Given the description of an element on the screen output the (x, y) to click on. 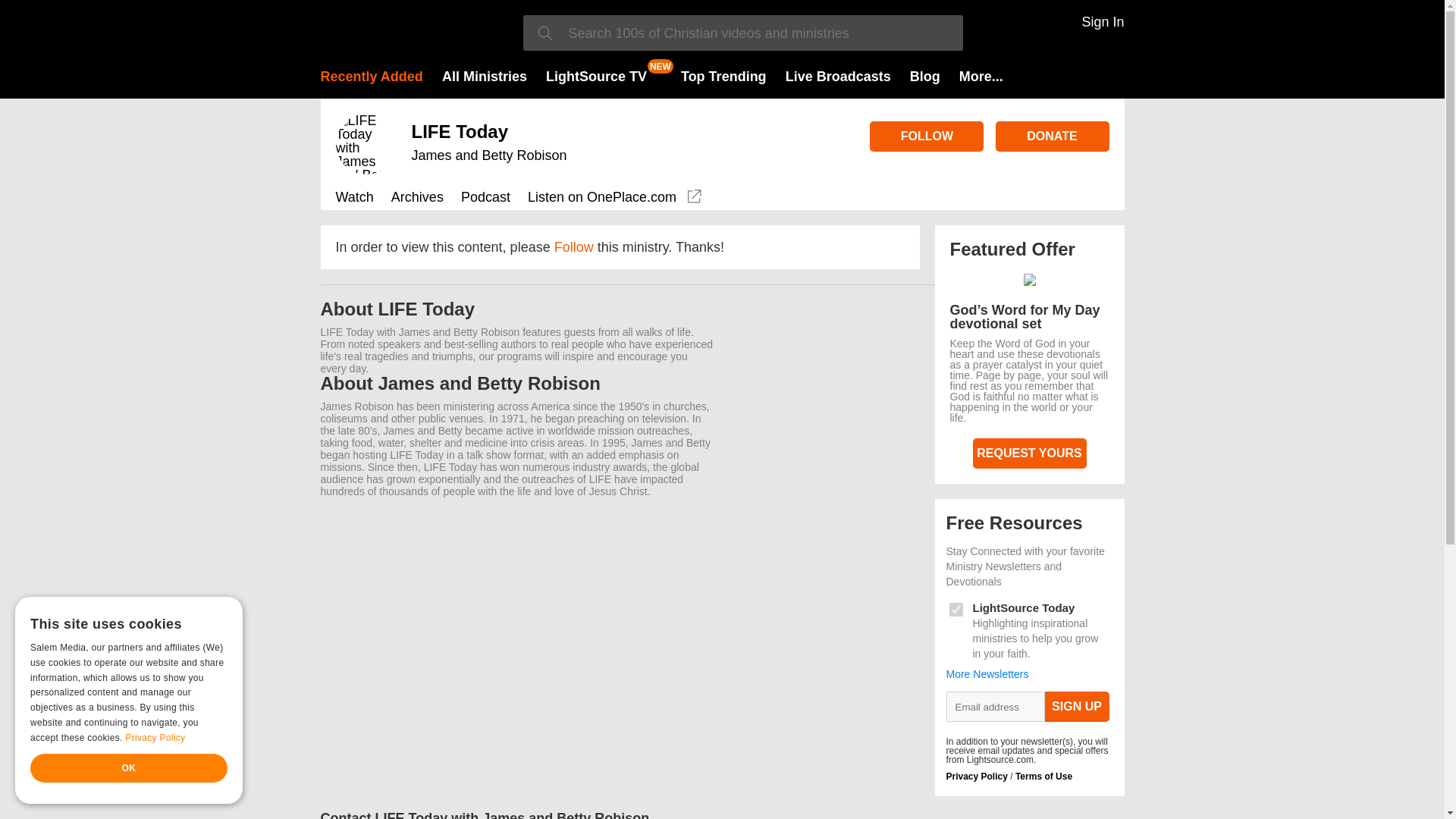
LIFE Today (459, 131)
FOLLOW (926, 136)
Listen on OnePlace.com (615, 199)
Podcast (486, 199)
REQUEST YOURS (1029, 453)
SIGN UP (1077, 706)
More... (981, 76)
Recently Added (371, 76)
Archives (417, 199)
Terms of Use (1042, 776)
Privacy Policy (976, 776)
DONATE (1051, 136)
Top Trending (724, 76)
All Ministries (484, 76)
More Newsletters (987, 674)
